Given the description of an element on the screen output the (x, y) to click on. 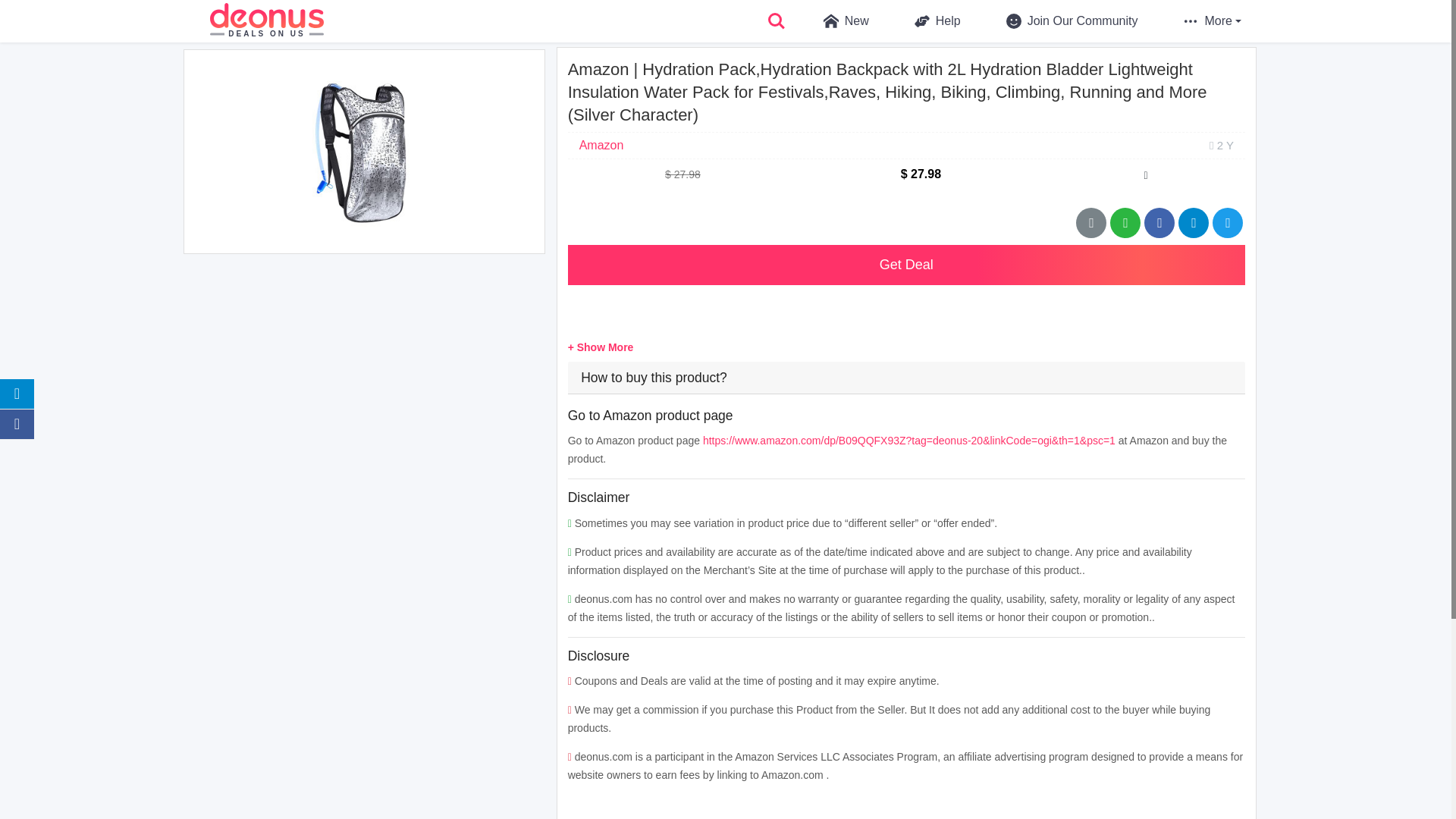
DEALS ON US (266, 21)
Get Deal (905, 264)
Amazon (601, 144)
Join Our Community (1061, 21)
New (835, 21)
Help (926, 21)
inviteFriends (1192, 223)
Search (776, 20)
More (1211, 21)
